Given the description of an element on the screen output the (x, y) to click on. 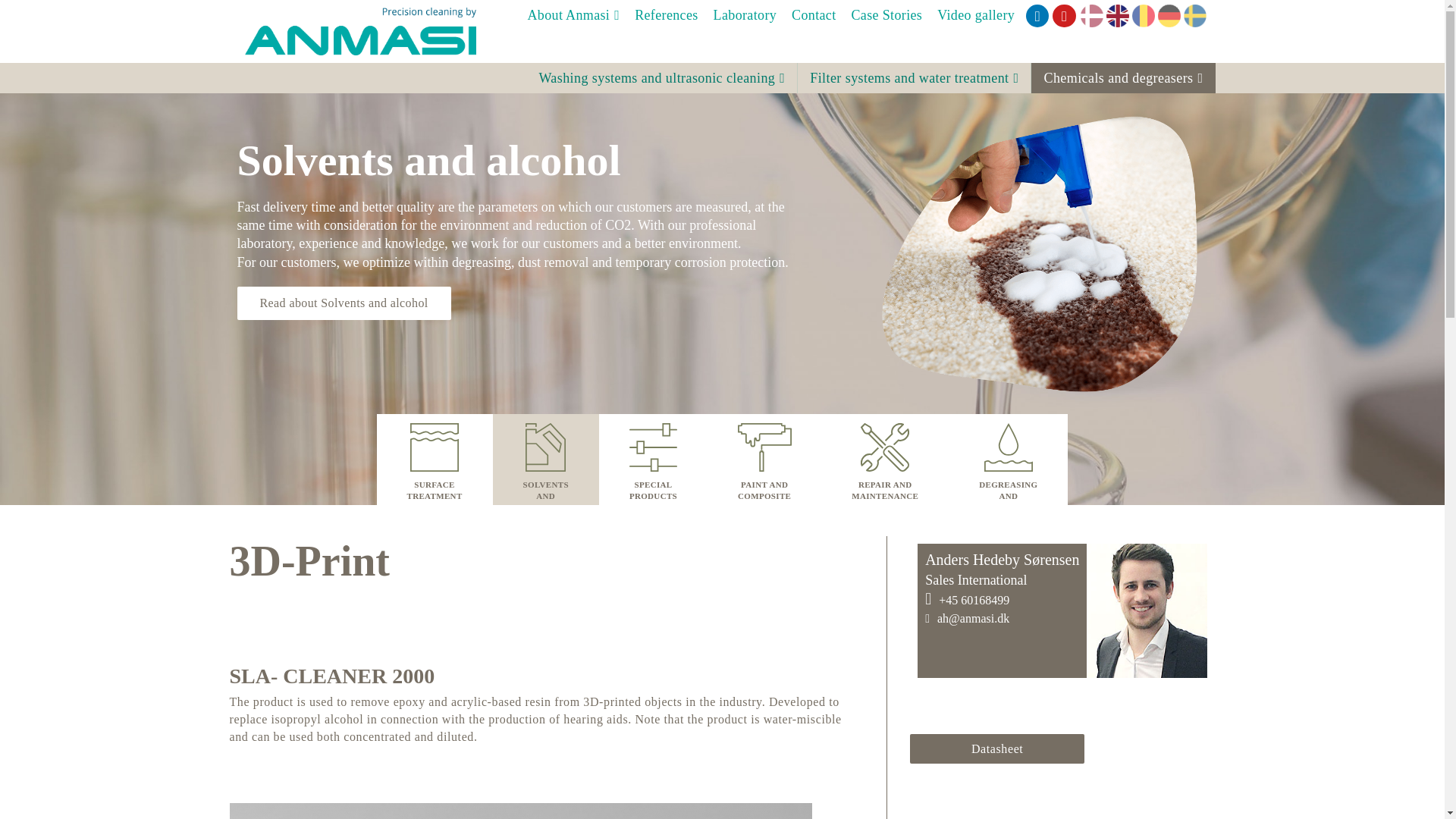
Laboratory (745, 15)
Contact (813, 15)
References (665, 15)
Washing systems and ultrasonic cleaning (660, 78)
About Anmasi (573, 15)
Video gallery (976, 15)
Case Stories (887, 15)
